Given the description of an element on the screen output the (x, y) to click on. 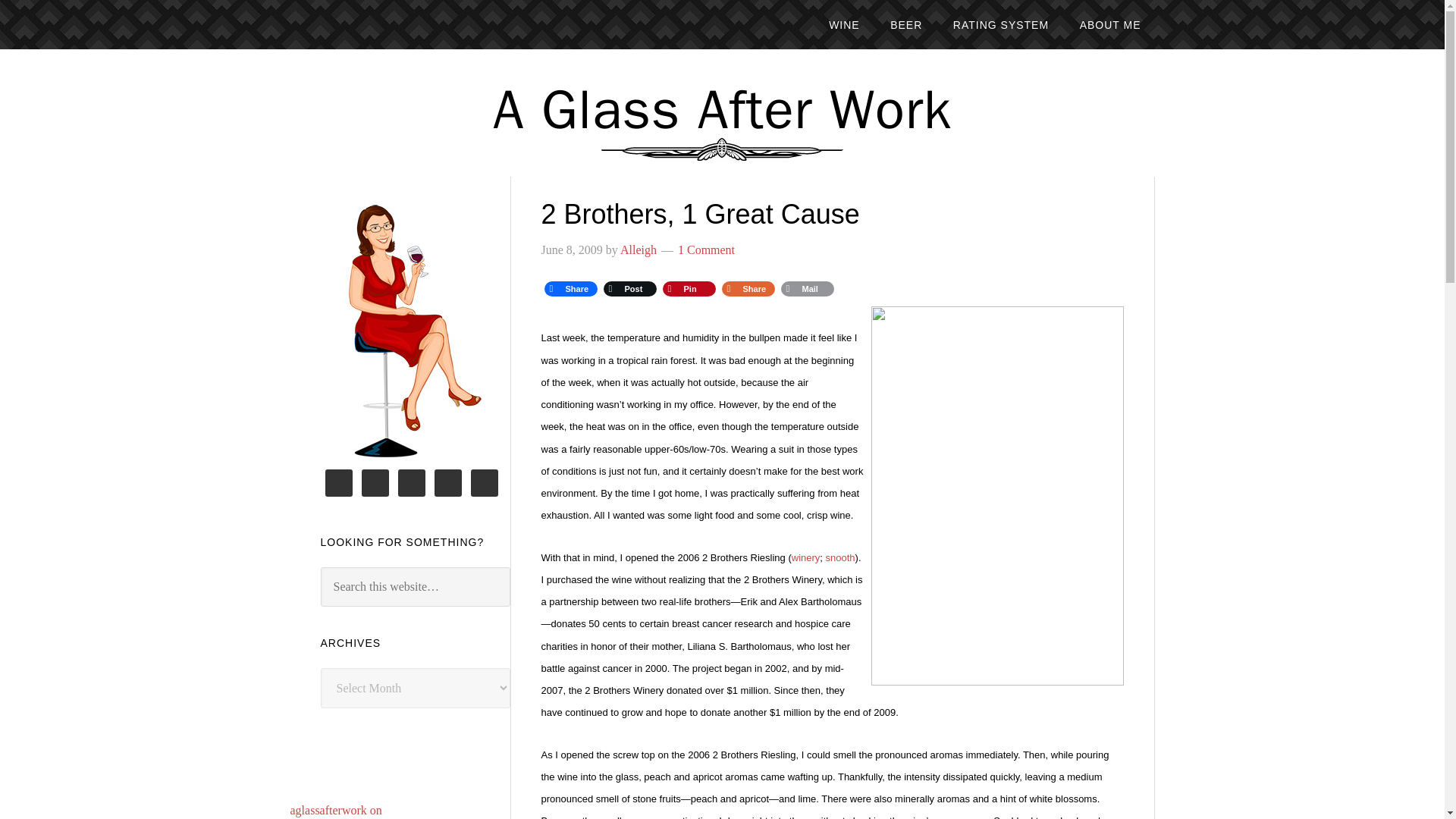
A Glass After Work (722, 110)
Facebook (570, 288)
BEER (906, 24)
snooth (840, 556)
Email This (807, 288)
ABOUT ME (1109, 24)
1 Comment (706, 249)
winery (806, 556)
WINE (844, 24)
Yummly (748, 288)
Pinterest (689, 288)
A Glass After Work (722, 110)
RATING SYSTEM (1000, 24)
Alleigh (638, 249)
